Given the description of an element on the screen output the (x, y) to click on. 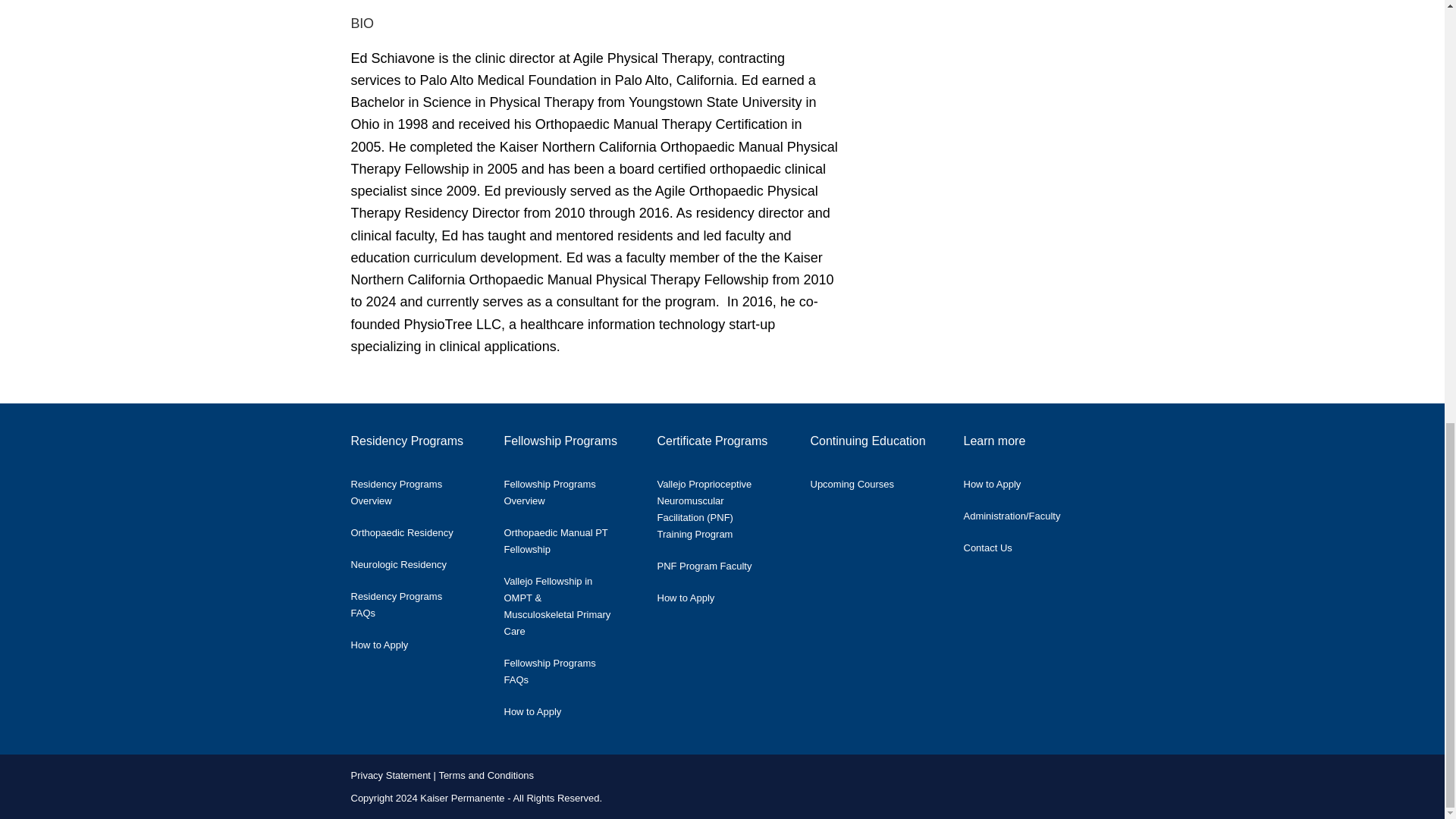
Residency Programs Overview (415, 489)
Orthopaedic Manual PT Fellowship (568, 537)
How to Apply (390, 641)
Orthopaedic Residency (413, 529)
Fellowship Programs Overview (568, 489)
Neurologic Residency (409, 561)
Residency Programs FAQs (415, 601)
